Given the description of an element on the screen output the (x, y) to click on. 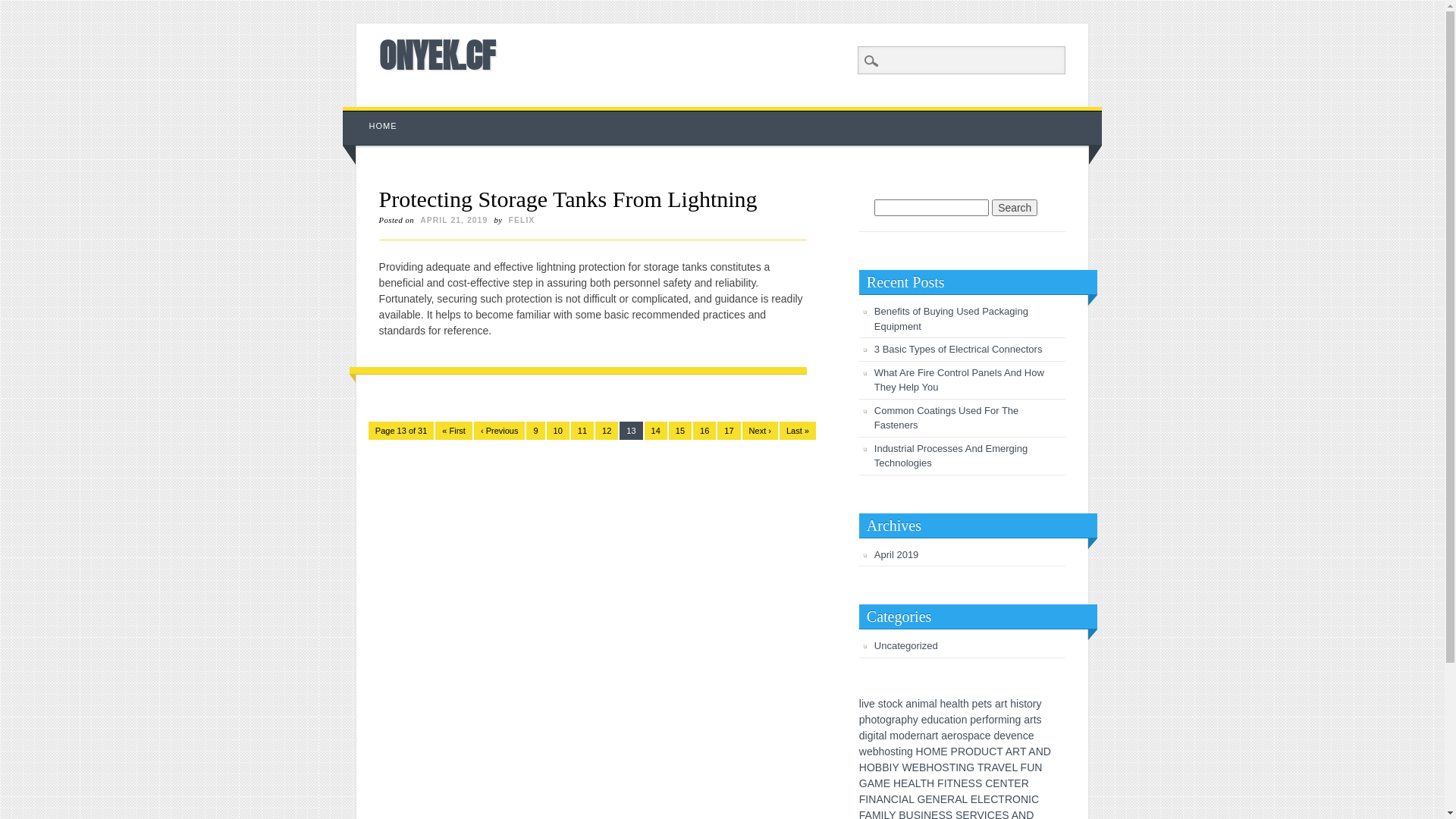
h Element type: text (966, 703)
Y Element type: text (894, 767)
T Element type: text (980, 767)
t Element type: text (936, 735)
O Element type: text (927, 751)
o Element type: text (889, 703)
s Element type: text (1038, 719)
a Element type: text (881, 735)
l Element type: text (885, 735)
e Element type: text (924, 719)
v Element type: text (866, 703)
I Element type: text (899, 799)
Industrial Processes And Emerging Technologies Element type: text (950, 455)
H Element type: text (862, 767)
e Element type: text (913, 735)
N Element type: text (871, 799)
F Element type: text (862, 799)
ONYEK.CF Element type: text (437, 55)
t Element type: text (877, 719)
E Element type: text (1007, 767)
i Element type: text (954, 719)
N Element type: text (1003, 783)
e Element type: text (1013, 735)
n Element type: text (1012, 719)
O Element type: text (969, 751)
U Element type: text (984, 751)
R Element type: text (1025, 783)
a Element type: text (954, 703)
C Element type: text (993, 799)
O Element type: text (1016, 799)
t Element type: text (984, 703)
R Element type: text (987, 767)
Search Element type: text (1014, 207)
n Element type: text (922, 735)
P Element type: text (953, 751)
E Element type: text (886, 783)
M Element type: text (936, 751)
r Element type: text (995, 719)
B Element type: text (922, 767)
L Element type: text (910, 799)
d Element type: text (929, 719)
y Element type: text (1038, 703)
s Element type: text (880, 703)
E Element type: text (943, 799)
s Element type: text (988, 703)
3 Basic Types of Electrical Connectors Element type: text (958, 348)
a Element type: text (931, 703)
E Element type: text (973, 799)
e Element type: text (978, 719)
N Element type: text (962, 767)
o Element type: text (887, 751)
C Element type: text (894, 799)
N Element type: text (1039, 751)
H Element type: text (919, 751)
T Element type: text (952, 767)
S Element type: text (978, 783)
l Element type: text (860, 703)
E Element type: text (1016, 783)
R Element type: text (950, 799)
c Element type: text (941, 719)
t Element type: text (884, 703)
O Element type: text (870, 767)
D Element type: text (1047, 751)
H Element type: text (930, 783)
r Element type: text (933, 735)
t Element type: text (1034, 719)
e Element type: text (950, 735)
E Element type: text (986, 799)
C Element type: text (992, 751)
11 Element type: text (582, 430)
L Element type: text (917, 783)
I Element type: text (866, 799)
d Element type: text (907, 735)
a Element type: text (997, 703)
T Element type: text (1022, 751)
e Element type: text (1002, 735)
i Element type: text (874, 735)
A Element type: text (1031, 751)
e Element type: text (869, 751)
A Element type: text (870, 783)
15 Element type: text (679, 430)
o Element type: text (958, 719)
c Element type: text (894, 703)
Protecting Storage Tanks From Lightning Element type: text (568, 198)
17 Element type: text (728, 430)
o Element type: text (959, 735)
e Element type: text (980, 703)
t Element type: text (896, 751)
g Element type: text (1018, 719)
r Element type: text (917, 735)
p Element type: text (975, 703)
E Element type: text (903, 783)
l Element type: text (935, 703)
y Element type: text (915, 719)
g Element type: text (888, 719)
T Element type: text (950, 783)
D Element type: text (977, 751)
d Element type: text (862, 735)
G Element type: text (970, 767)
n Element type: text (914, 703)
A Element type: text (910, 783)
HOME Element type: text (383, 125)
N Element type: text (1037, 767)
R Element type: text (1008, 799)
A Element type: text (957, 799)
G Element type: text (920, 799)
a Element type: text (944, 735)
t Element type: text (876, 735)
u Element type: text (935, 719)
FELIX Element type: text (522, 219)
Skip to content Element type: text (377, 114)
L Element type: text (980, 799)
r Element type: text (983, 719)
U Element type: text (1030, 767)
t Element type: text (951, 719)
C Element type: text (988, 783)
t Element type: text (1024, 703)
o Element type: text (991, 719)
A Element type: text (904, 799)
r Element type: text (1034, 703)
10 Element type: text (557, 430)
L Element type: text (964, 799)
C Element type: text (1034, 799)
s Element type: text (964, 735)
b Element type: text (875, 751)
9 Element type: text (535, 430)
E Element type: text (928, 799)
o Element type: text (901, 735)
m Element type: text (923, 703)
a Element type: text (928, 735)
N Element type: text (1024, 799)
a Element type: text (947, 719)
k Element type: text (899, 703)
g Element type: text (870, 735)
r Element type: text (1031, 719)
p Element type: text (970, 735)
N Element type: text (956, 783)
i Element type: text (866, 735)
B Element type: text (884, 767)
e Element type: text (872, 703)
T Element type: text (999, 751)
m Element type: text (893, 735)
c Element type: text (982, 735)
R Element type: text (1015, 751)
H Element type: text (929, 767)
n Element type: text (964, 719)
p Element type: text (903, 719)
What Are Fire Control Panels And How They Help You Element type: text (959, 380)
Uncategorized Element type: text (906, 645)
S Element type: text (971, 783)
m Element type: text (1002, 719)
g Element type: text (909, 751)
a Element type: text (976, 735)
i Element type: text (899, 751)
h Element type: text (909, 719)
B Element type: text (878, 767)
s Element type: text (892, 751)
I Element type: text (1029, 799)
F Element type: text (1023, 767)
e Element type: text (948, 703)
M Element type: text (878, 783)
a Element type: text (908, 703)
A Element type: text (878, 799)
F Element type: text (940, 783)
h Element type: text (868, 719)
e Element type: text (988, 735)
h Element type: text (1013, 703)
n Element type: text (1019, 735)
T Element type: text (1000, 799)
v Element type: text (1007, 735)
f Element type: text (986, 719)
I Element type: text (889, 767)
April 2019 Element type: text (896, 554)
Common Coatings Used For The Fasteners Element type: text (946, 417)
W Element type: text (906, 767)
I Element type: text (945, 783)
O Element type: text (937, 767)
Search Element type: text (22, 8)
12 Element type: text (606, 430)
E Element type: text (963, 783)
H Element type: text (896, 783)
c Element type: text (1025, 735)
APRIL 21, 2019 Element type: text (453, 219)
Benefits of Buying Used Packaging Equipment Element type: text (951, 318)
16 Element type: text (704, 430)
N Element type: text (887, 799)
E Element type: text (915, 767)
V Element type: text (1000, 767)
r Element type: text (893, 719)
s Element type: text (1020, 703)
T Element type: text (1010, 783)
t Element type: text (961, 703)
R Element type: text (961, 751)
o Element type: text (1029, 703)
h Element type: text (881, 751)
I Element type: text (956, 767)
r Element type: text (955, 735)
i Element type: text (1017, 703)
N Element type: text (936, 799)
e Element type: text (1031, 735)
i Element type: text (862, 703)
S Element type: text (944, 767)
t Element type: text (1005, 703)
T Element type: text (923, 783)
E Element type: text (995, 783)
G Element type: text (863, 783)
p Element type: text (862, 719)
l Element type: text (958, 703)
i Element type: text (918, 703)
A Element type: text (994, 767)
o Element type: text (882, 719)
a Element type: text (897, 719)
w Element type: text (862, 751)
d Element type: text (996, 735)
n Element type: text (903, 751)
i Element type: text (1008, 719)
o Element type: text (873, 719)
p Element type: text (972, 719)
h Element type: text (943, 703)
A Element type: text (1008, 751)
a Element type: text (1026, 719)
L Element type: text (1013, 767)
14 Element type: text (655, 430)
r Element type: text (1002, 703)
E Element type: text (943, 751)
